Given the description of an element on the screen output the (x, y) to click on. 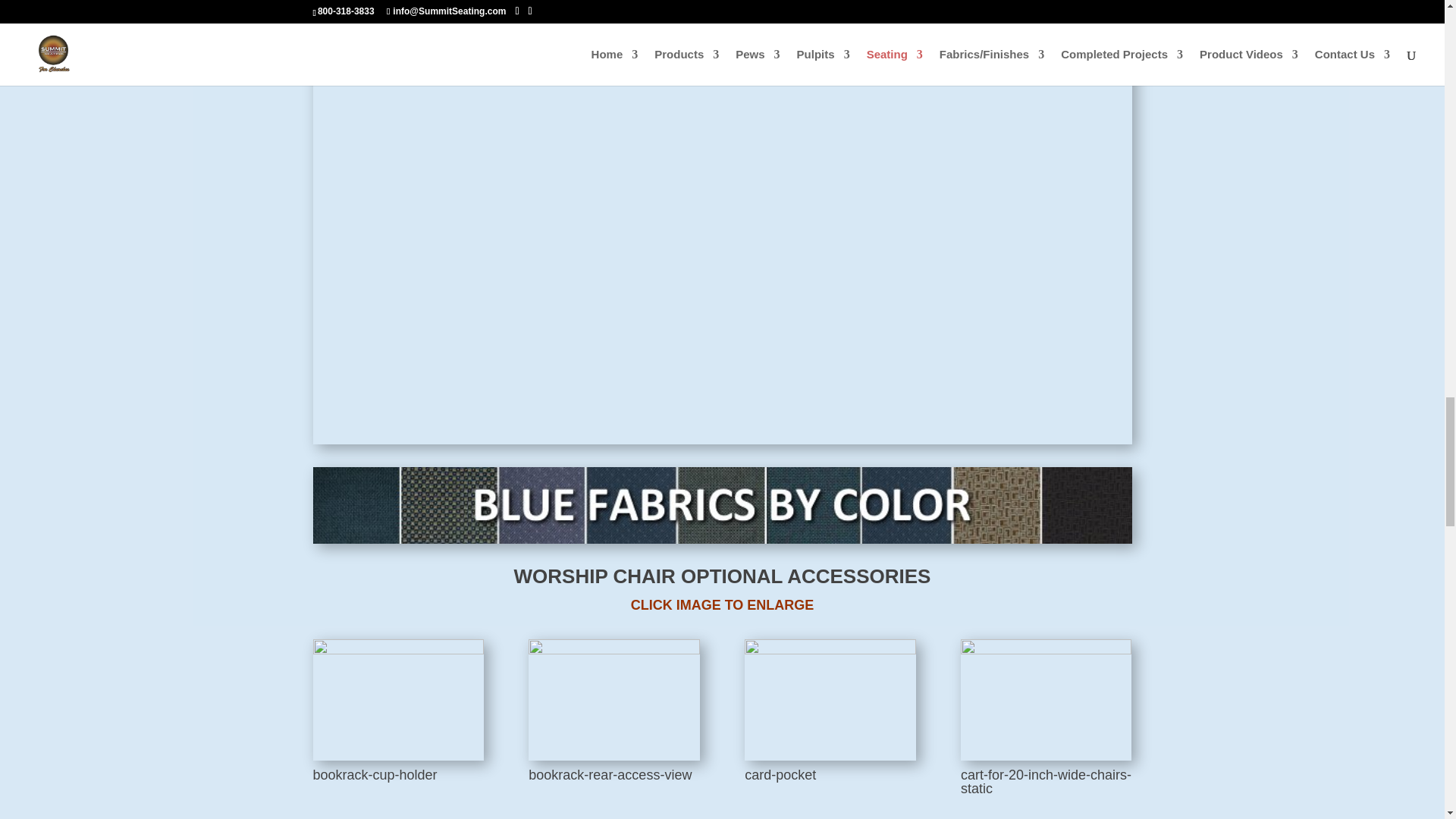
bookrack-rear-access-view (613, 649)
cart-for-20-inch-wide-chairs-static (1045, 649)
card-pocket (829, 649)
bookrack-cup-holder (398, 649)
